Given the description of an element on the screen output the (x, y) to click on. 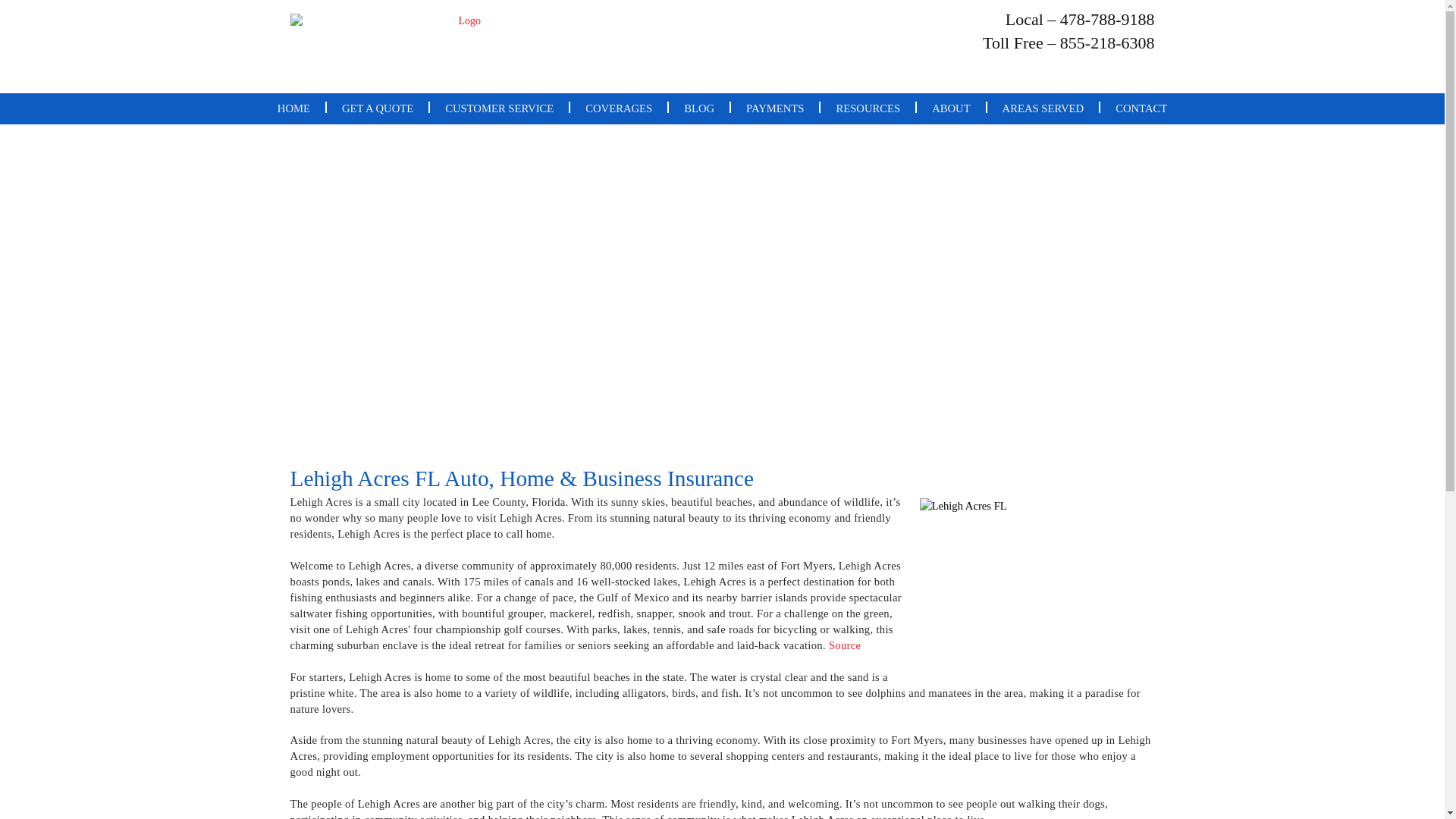
HOME (293, 108)
BLOG (698, 108)
CUSTOMER SERVICE (499, 108)
GET A QUOTE (377, 108)
COVERAGES (618, 108)
